Given the description of an element on the screen output the (x, y) to click on. 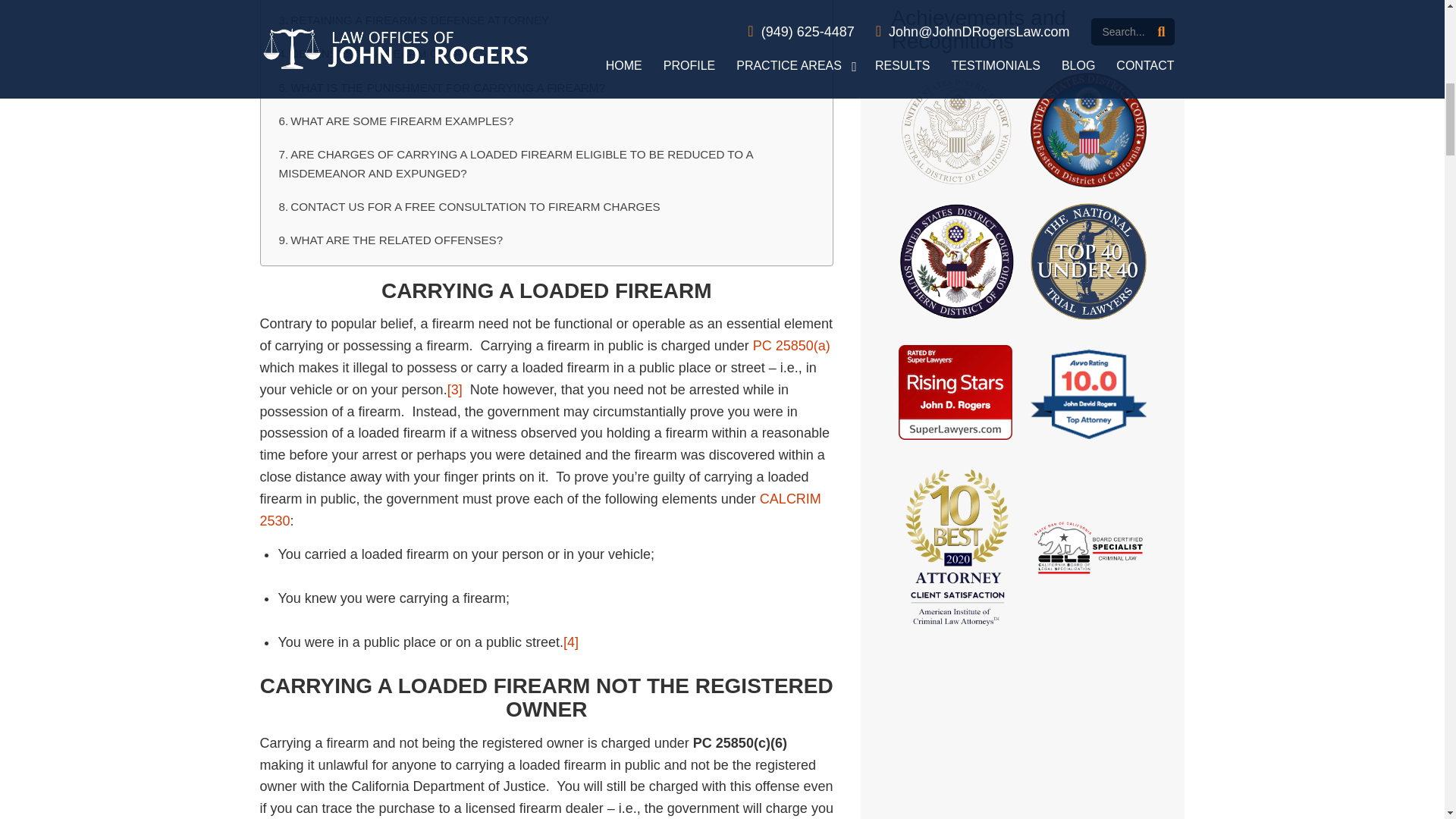
DEFENSES TO FIREARM CHARGES (546, 53)
